Given the description of an element on the screen output the (x, y) to click on. 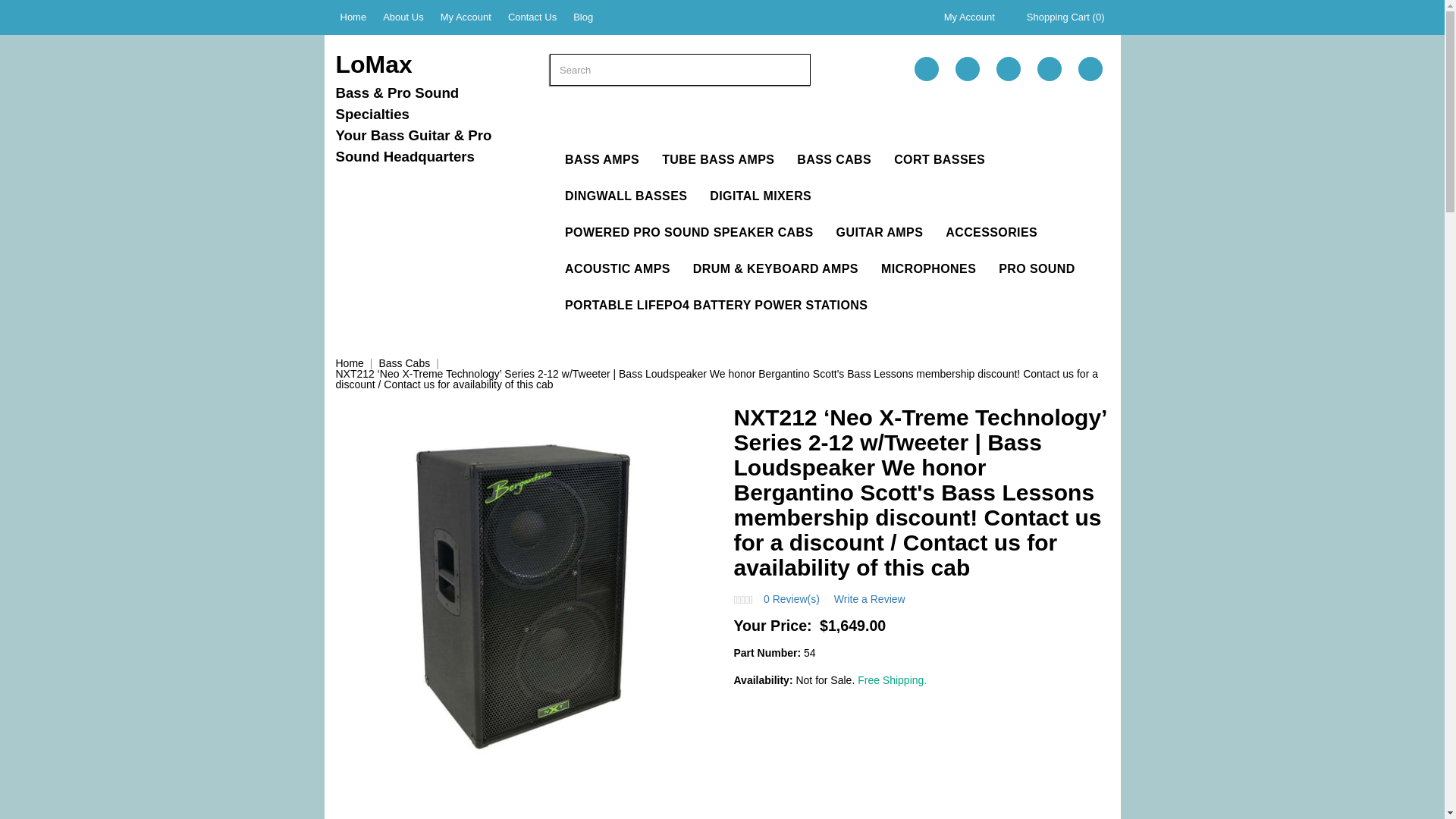
BASS CABS (834, 159)
Home (348, 363)
Like Us on Facebook (926, 68)
BASS AMPS (601, 159)
Follow Us on Instagram (1090, 68)
My Account (968, 16)
ACOUSTIC AMPS (617, 268)
About Us (403, 16)
DINGWALL BASSES (625, 196)
DIGITAL MIXERS (760, 196)
